Given the description of an element on the screen output the (x, y) to click on. 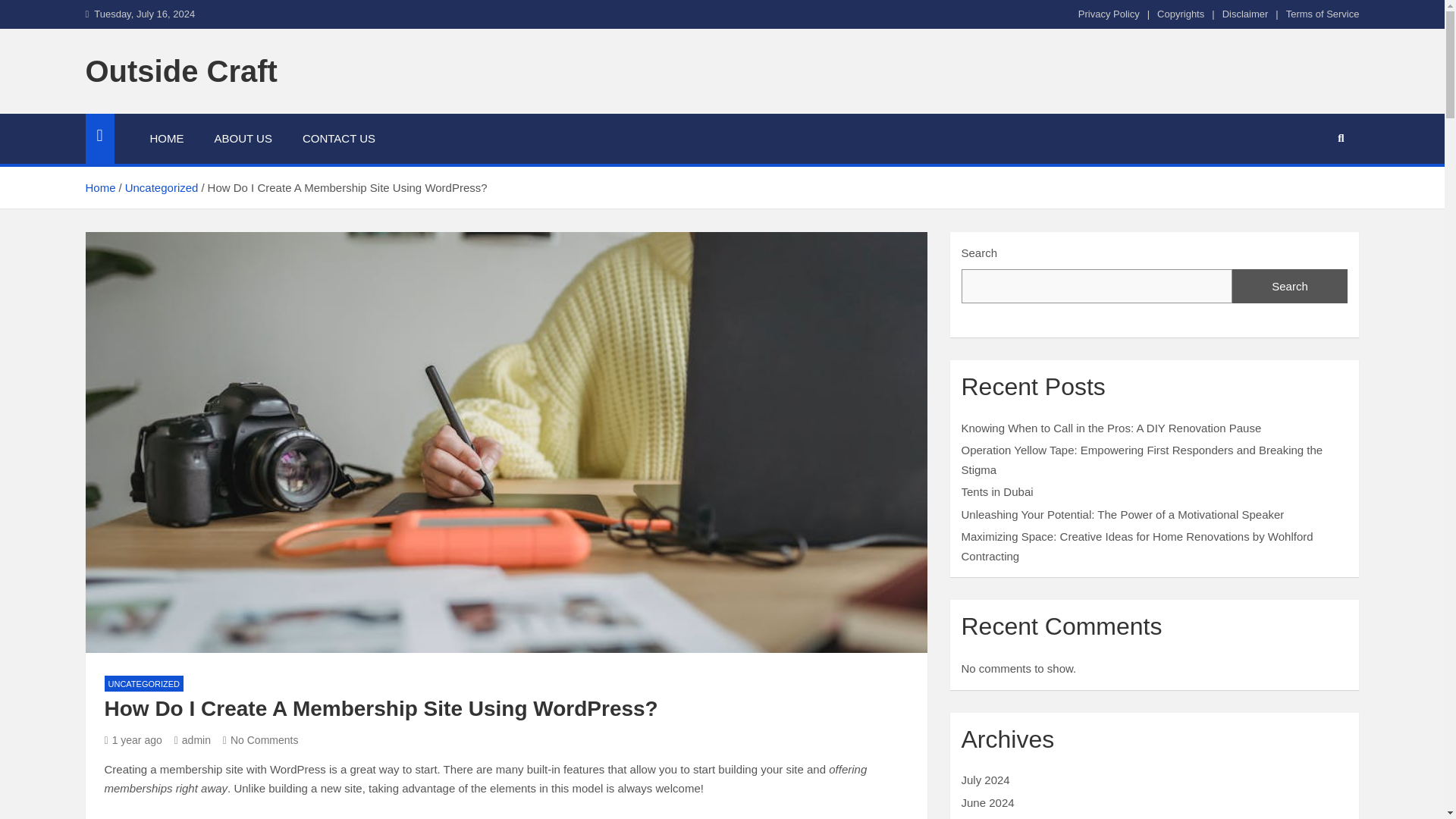
Terms of Service (1322, 13)
June 2024 (987, 802)
Disclaimer (1245, 13)
July 2024 (985, 779)
Home (99, 187)
May 2024 (985, 818)
How Do I Create A Membership Site Using WordPress? (132, 739)
1 year ago (132, 739)
Search (1289, 286)
ABOUT US (242, 138)
admin (192, 739)
HOME (167, 138)
Privacy Policy (1109, 13)
